Given the description of an element on the screen output the (x, y) to click on. 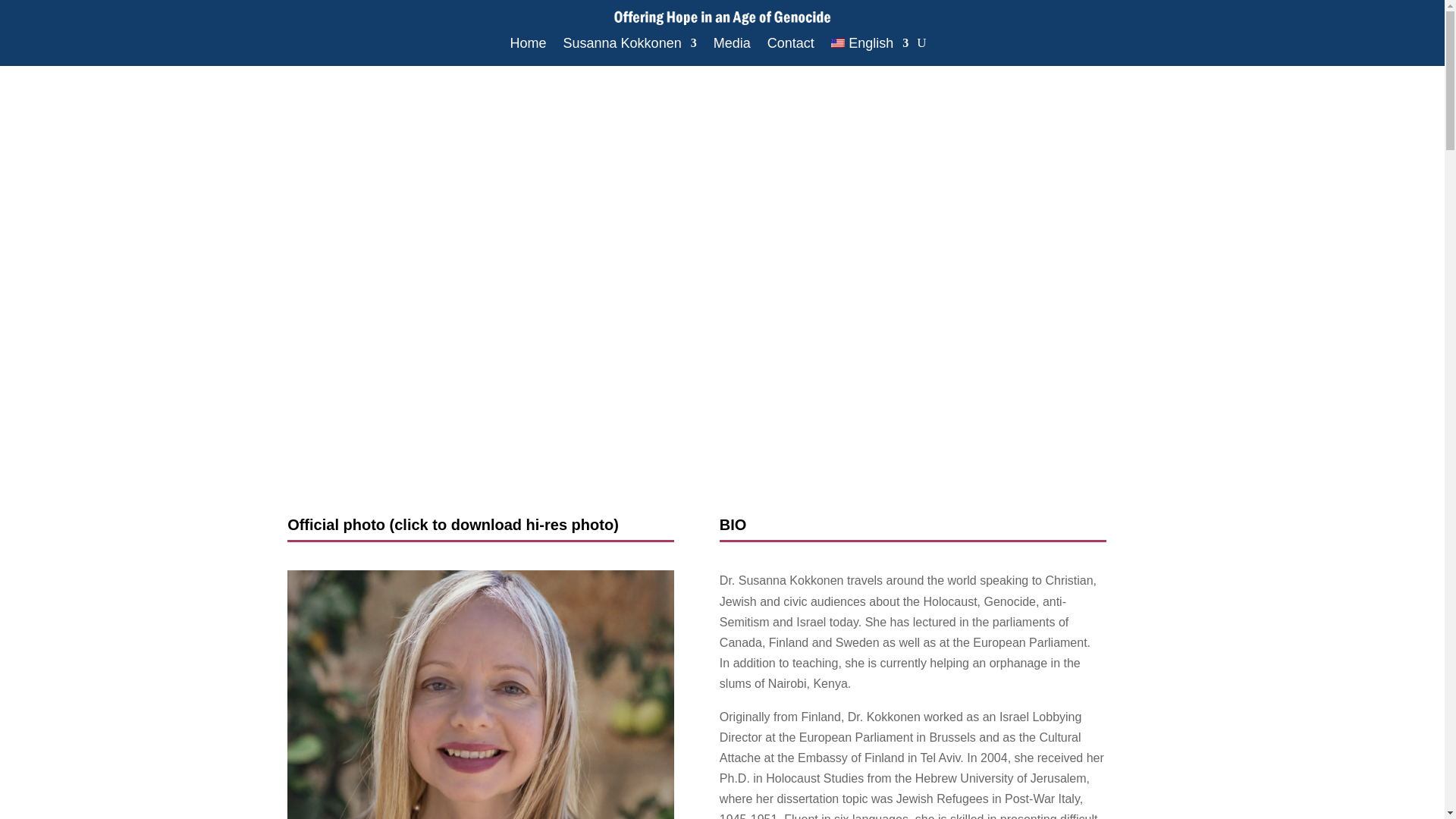
Susanna Kokkonen (480, 694)
Susanna Kokkonen (630, 45)
Contact (790, 45)
Home (529, 45)
Media (732, 45)
English (869, 45)
English (869, 45)
Logo-Susanna-Kokkonen (721, 16)
